Given the description of an element on the screen output the (x, y) to click on. 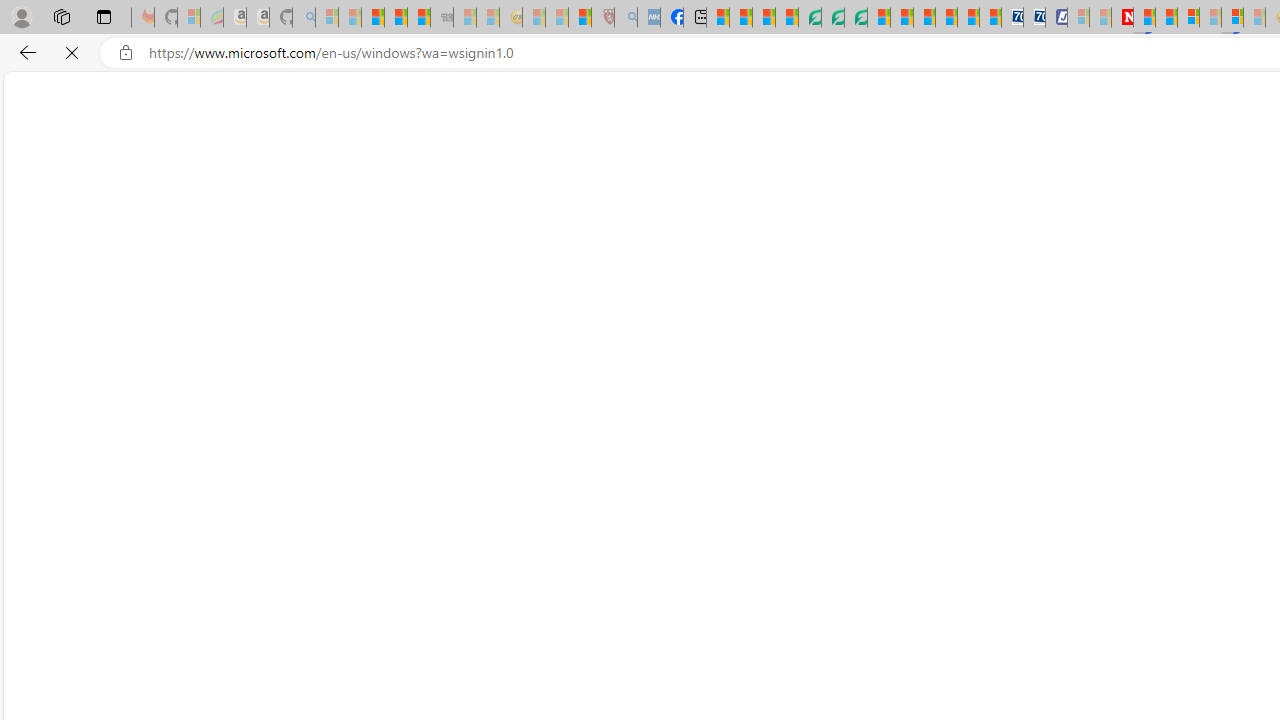
Terms of Use Agreement (832, 17)
